Given the description of an element on the screen output the (x, y) to click on. 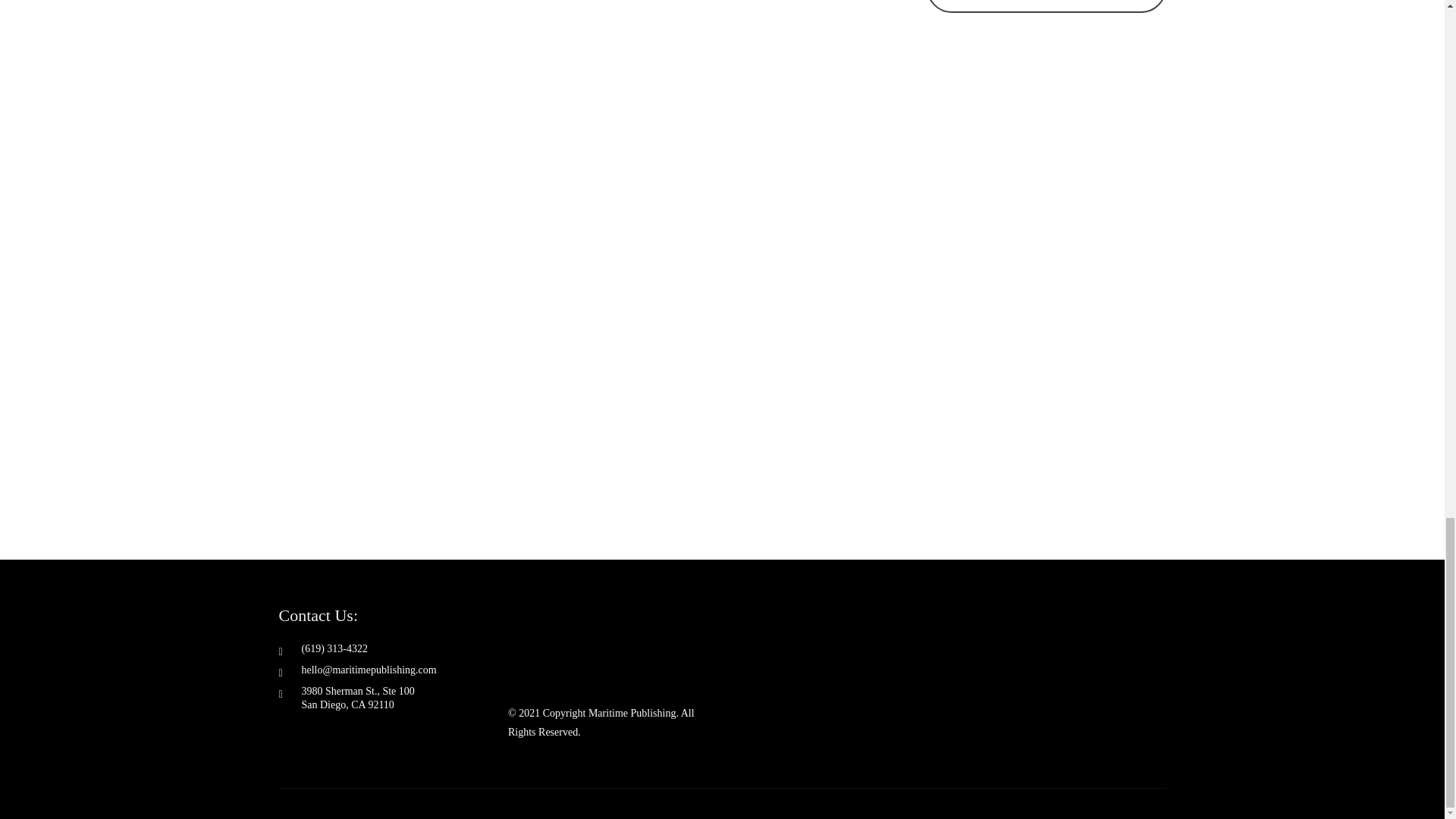
View Current and Past Issues (1046, 6)
